Given the description of an element on the screen output the (x, y) to click on. 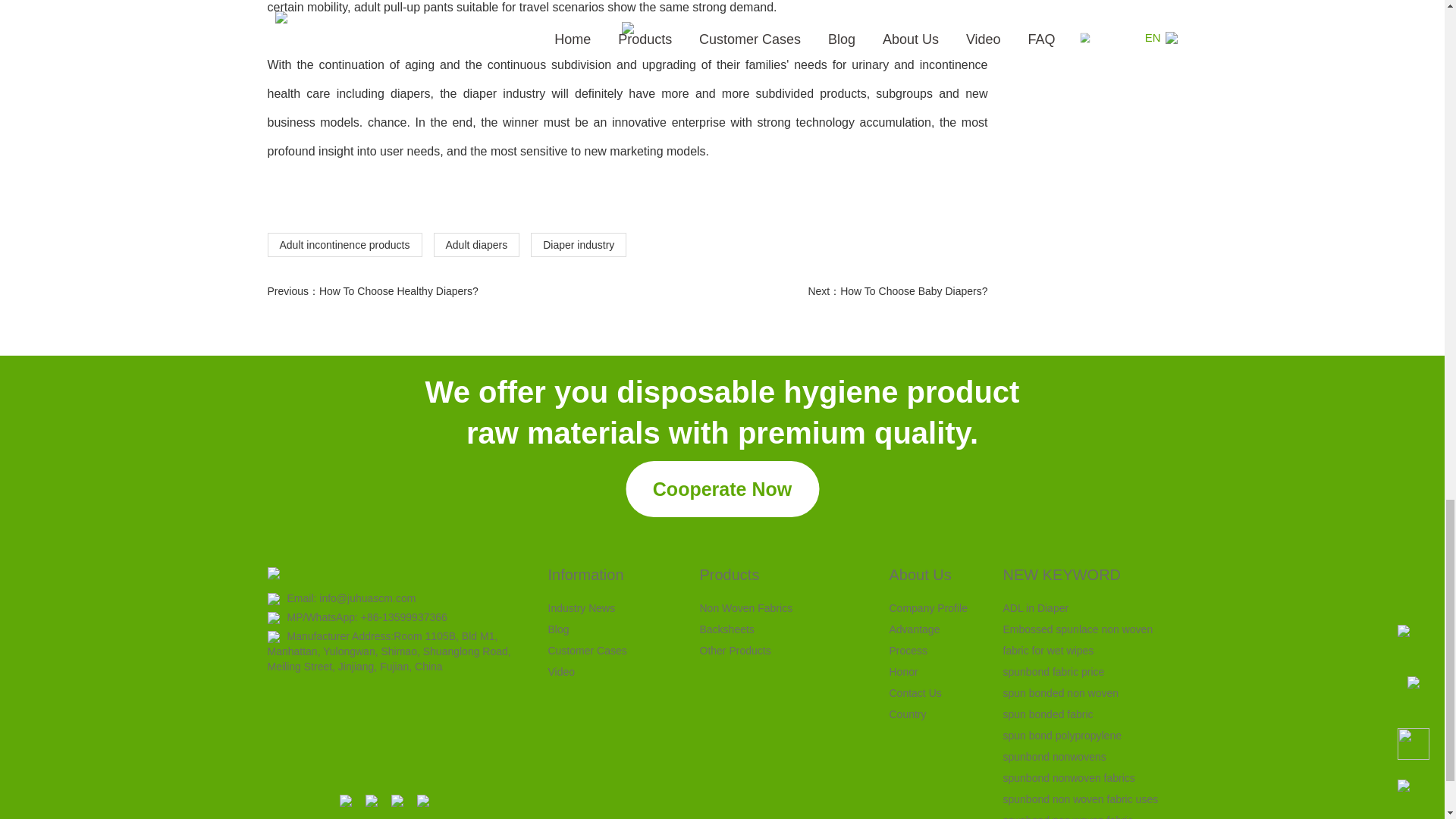
Adult incontinence products (344, 244)
Adult diapers (476, 244)
Diaper industry (578, 244)
